Given the description of an element on the screen output the (x, y) to click on. 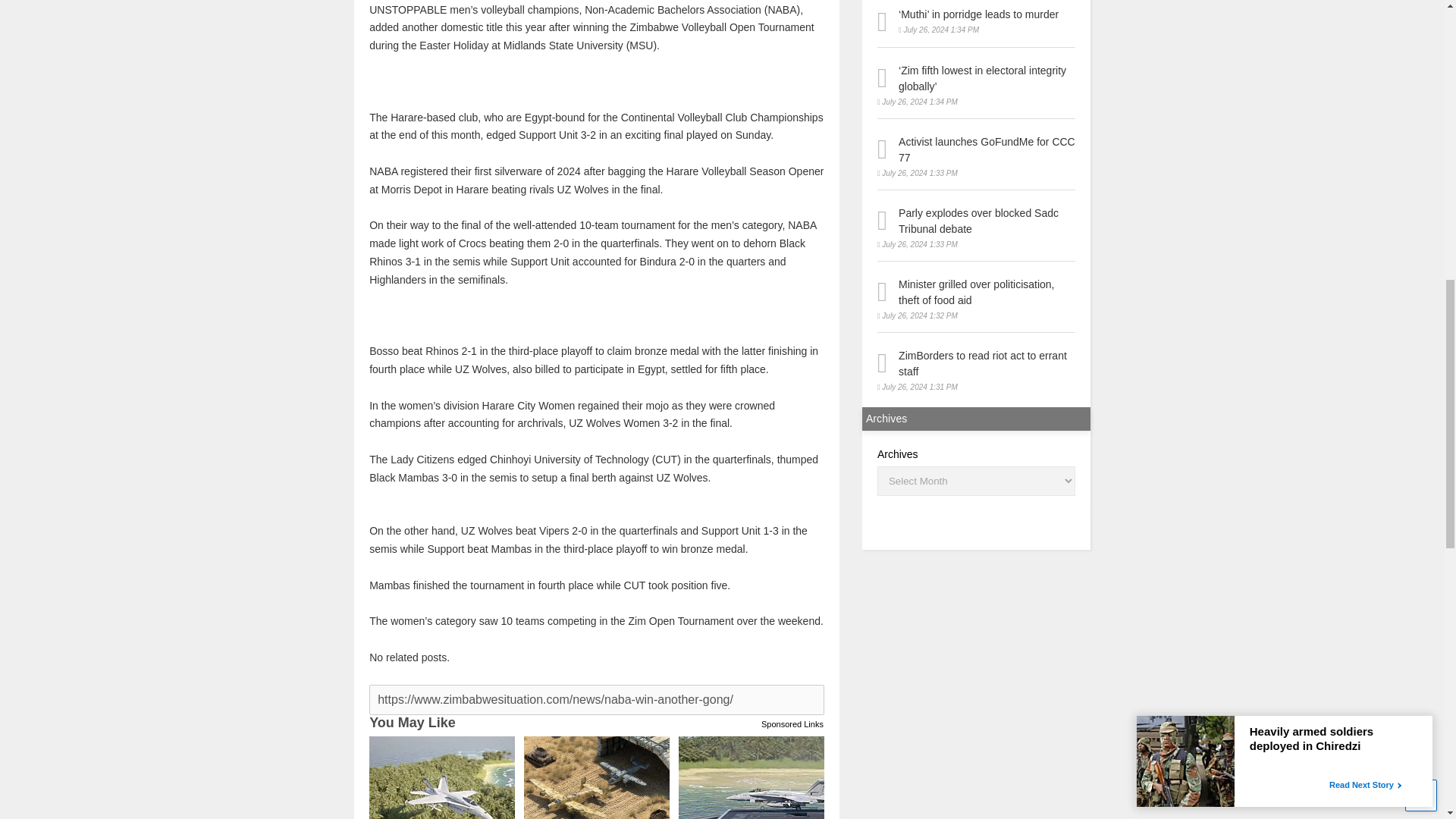
Sponsored Links (792, 722)
If you own a mouse, you have to play this game. (751, 777)
